Given the description of an element on the screen output the (x, y) to click on. 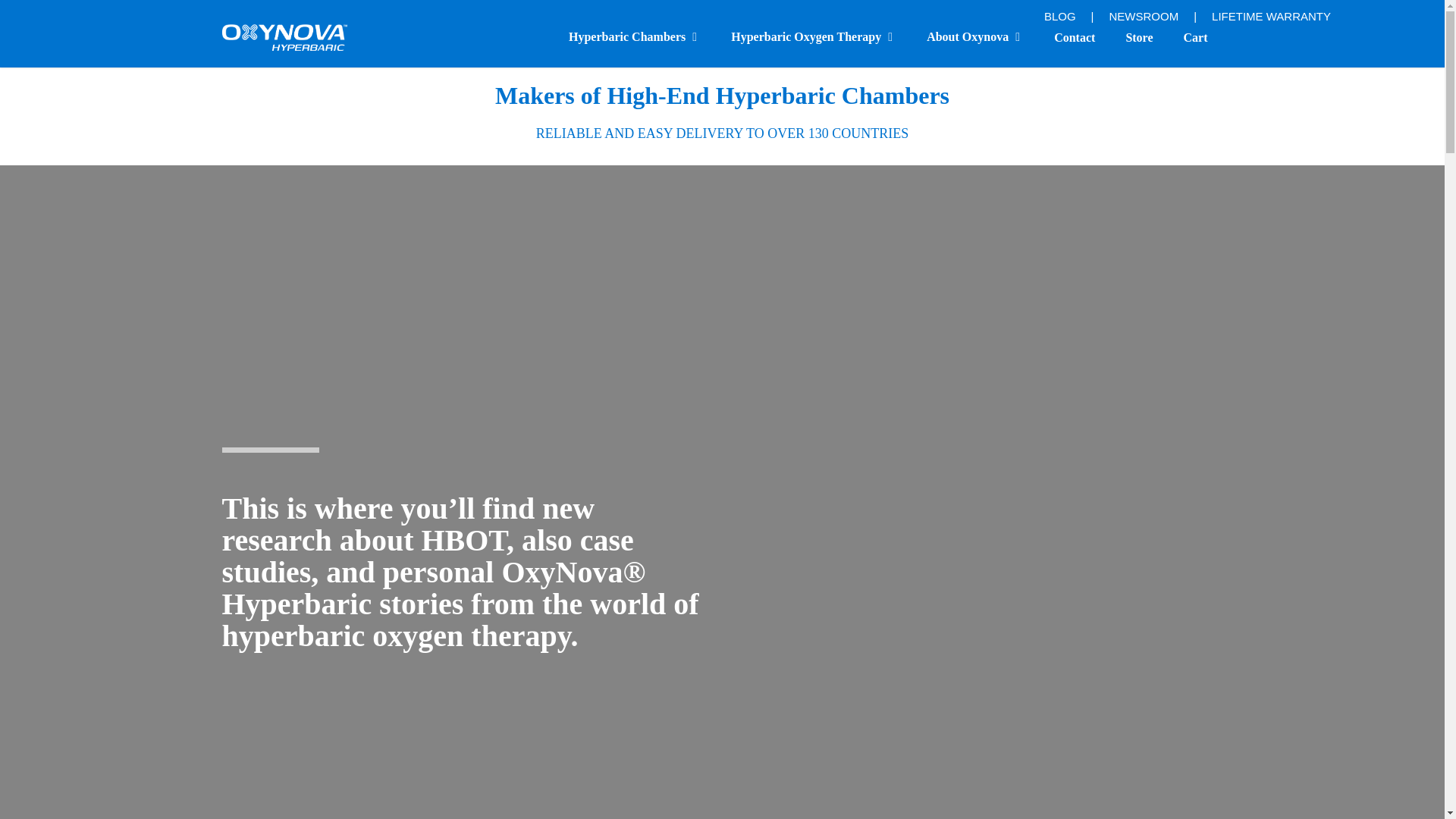
Contact (1074, 37)
LIFETIME WARRANTY (1270, 15)
Hyperbaric Chambers (634, 37)
NEWSROOM (1142, 15)
BLOG (1059, 15)
Cart (1195, 37)
Hyperbaric Oxygen Therapy (813, 37)
Store (1139, 37)
About Oxynova (974, 37)
